Given the description of an element on the screen output the (x, y) to click on. 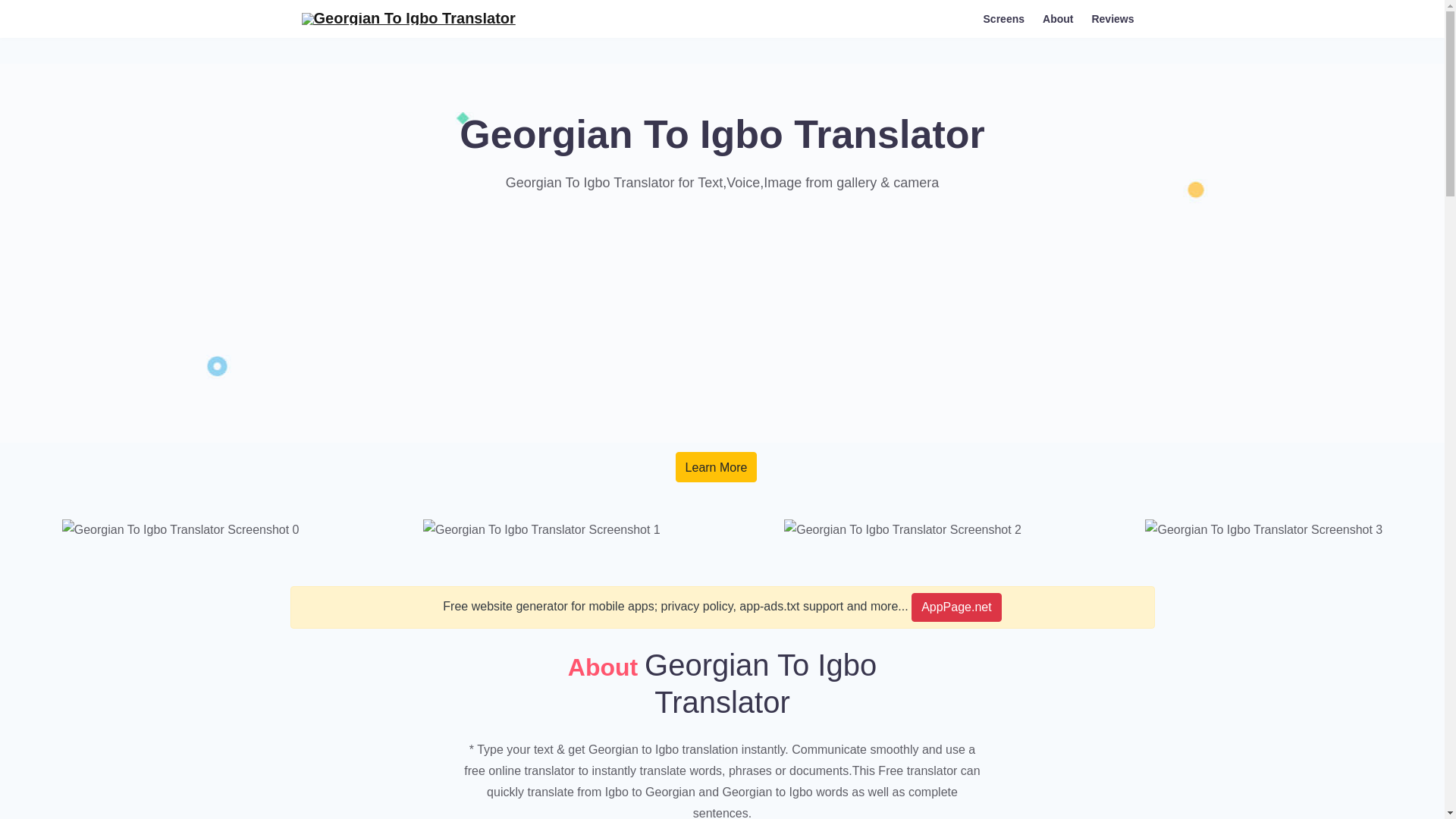
Reviews (1111, 18)
Learn More (716, 467)
Learn More (716, 467)
Screens (1003, 18)
Learn More (716, 467)
AppPage.net (956, 606)
Reviews (1111, 18)
About (1057, 18)
Screens (1003, 18)
